Given the description of an element on the screen output the (x, y) to click on. 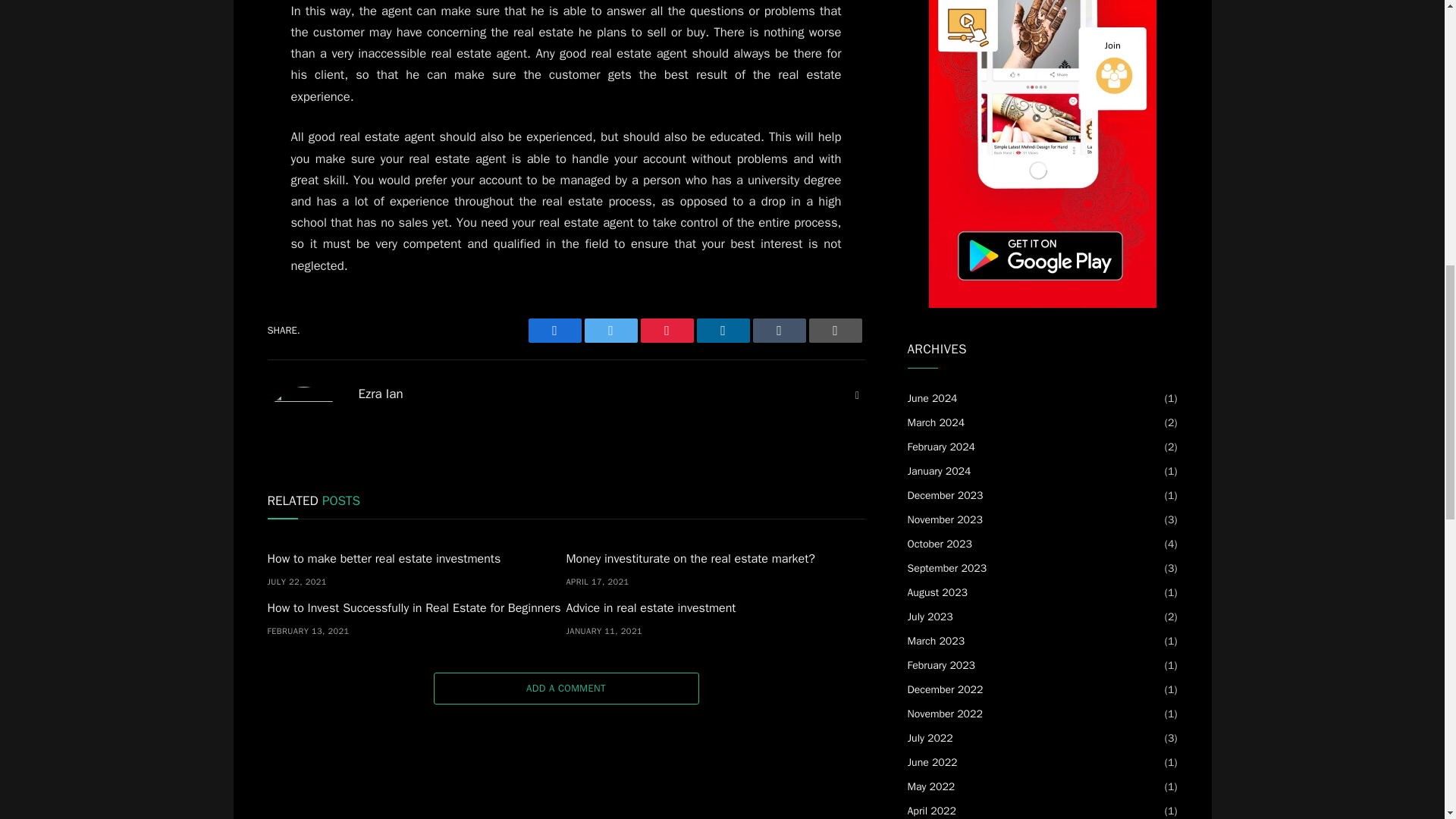
Share on Twitter (610, 330)
Share on Facebook (553, 330)
